Given the description of an element on the screen output the (x, y) to click on. 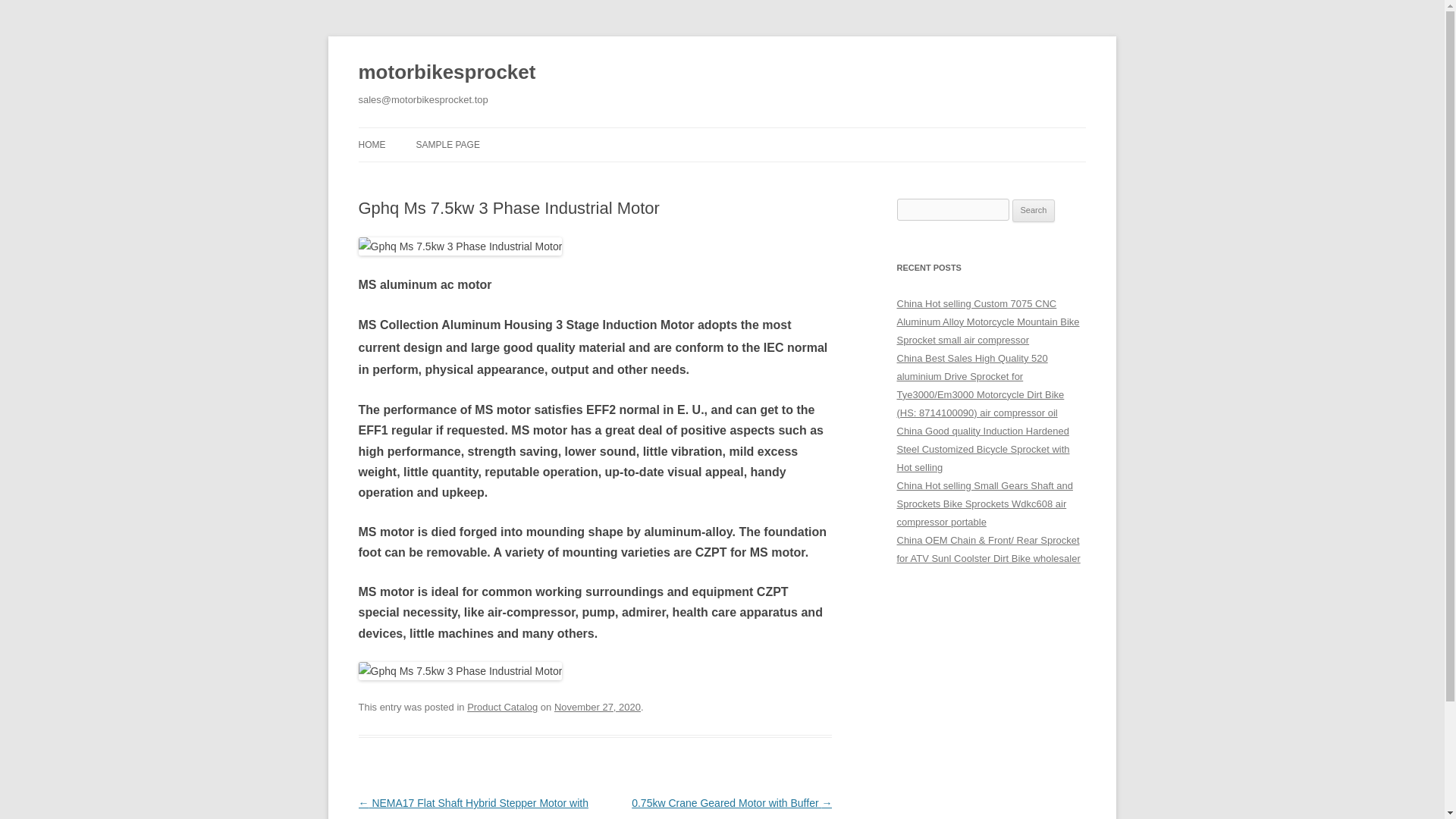
November 27, 2020 (597, 706)
Search (1033, 210)
motorbikesprocket (446, 72)
Product Catalog (502, 706)
Gphq Ms 7.5kw 3 Phase Industrial Motor (460, 246)
Gphq Ms 7.5kw 3 Phase Industrial Motor (460, 670)
motorbikesprocket (446, 72)
